Given the description of an element on the screen output the (x, y) to click on. 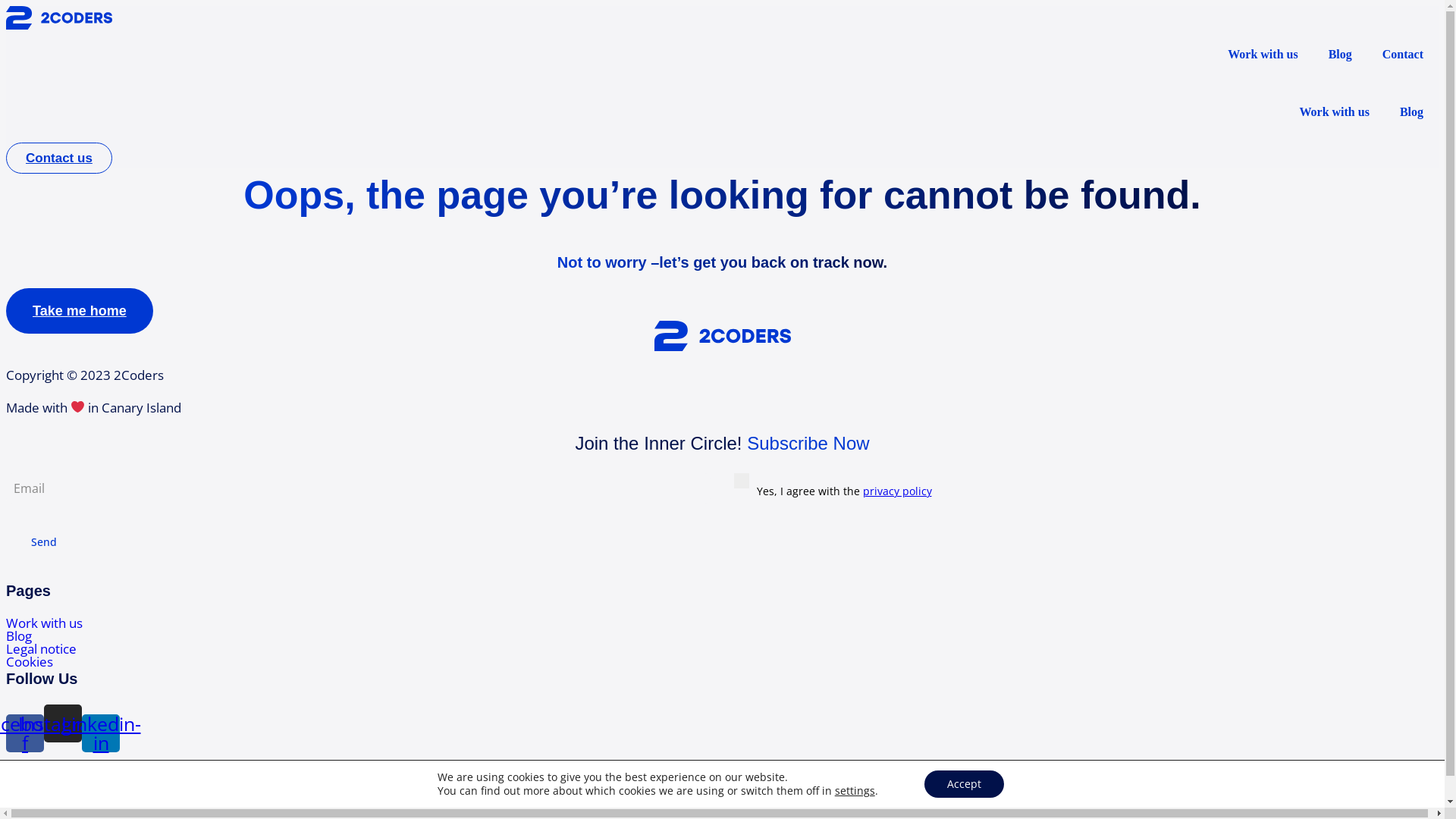
settings Element type: text (854, 790)
Send Element type: text (43, 542)
Legal notice Element type: text (722, 648)
Instagram Element type: text (62, 723)
Blog Element type: text (722, 635)
Linkedin-in Element type: text (100, 733)
Contact us Element type: text (59, 157)
Accept Element type: text (964, 783)
Blog Element type: text (1411, 112)
2coders-logo-blue Element type: hover (721, 335)
Facebook-f Element type: text (24, 733)
Take me home Element type: text (79, 310)
Cookies Element type: text (722, 661)
privacy policy Element type: text (896, 490)
Work with us Element type: text (1333, 112)
Work with us Element type: text (1262, 54)
Work with us Element type: text (722, 622)
Blog Element type: text (1340, 54)
Contact Element type: text (1402, 54)
